Given the description of an element on the screen output the (x, y) to click on. 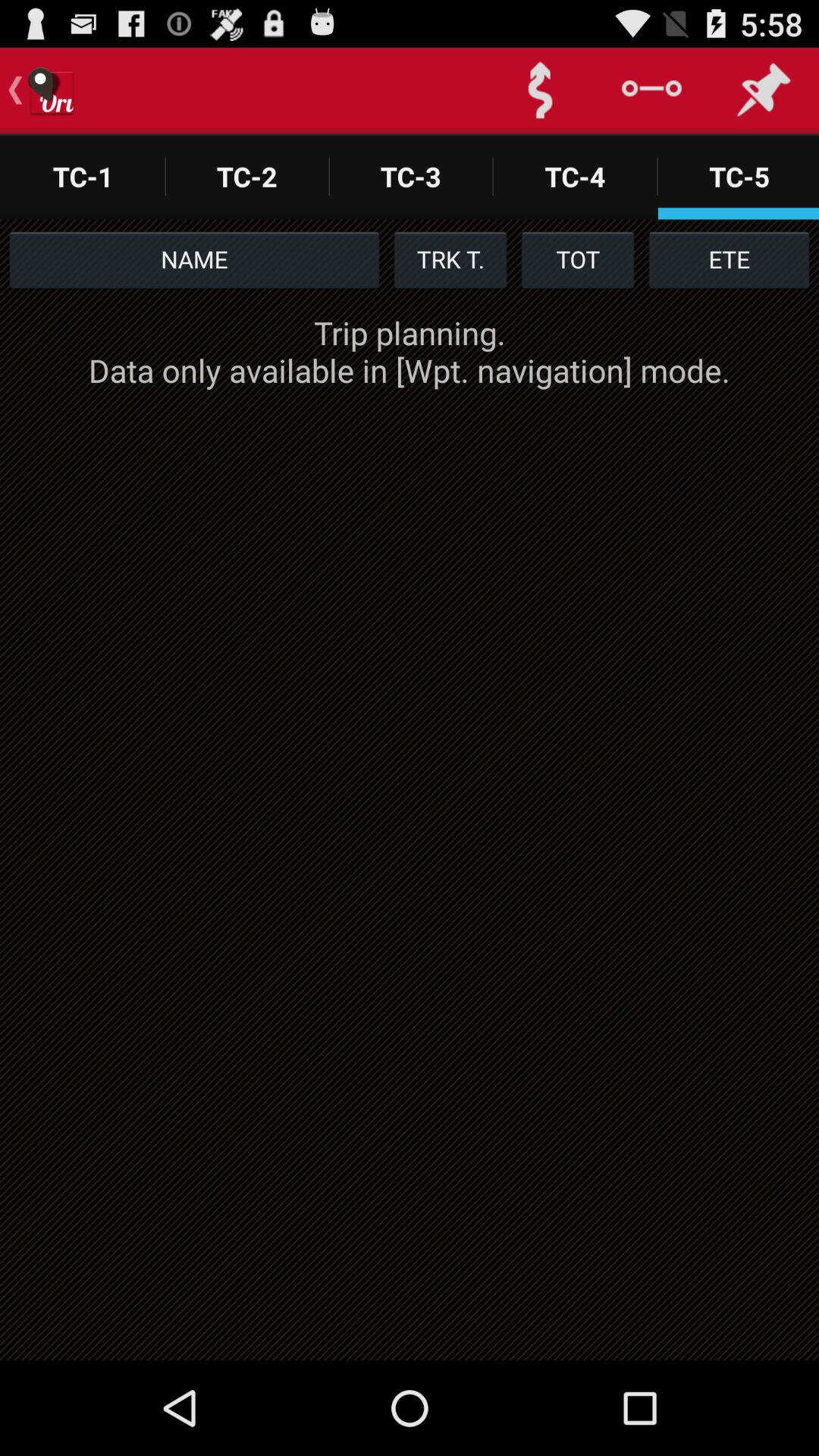
scroll until the tot (577, 259)
